Given the description of an element on the screen output the (x, y) to click on. 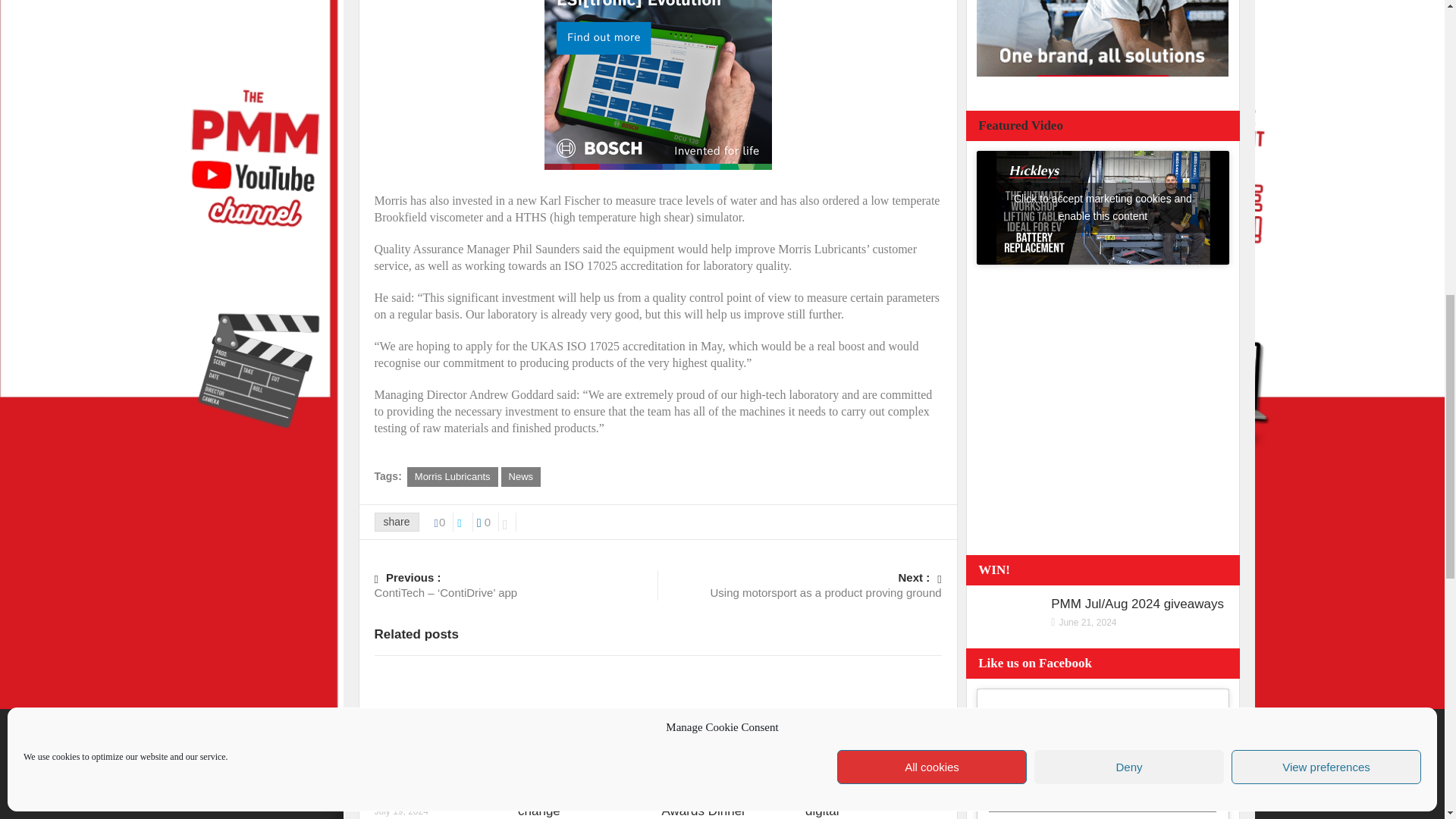
3rd party ad content (1102, 38)
3rd party ad content (657, 86)
